Given the description of an element on the screen output the (x, y) to click on. 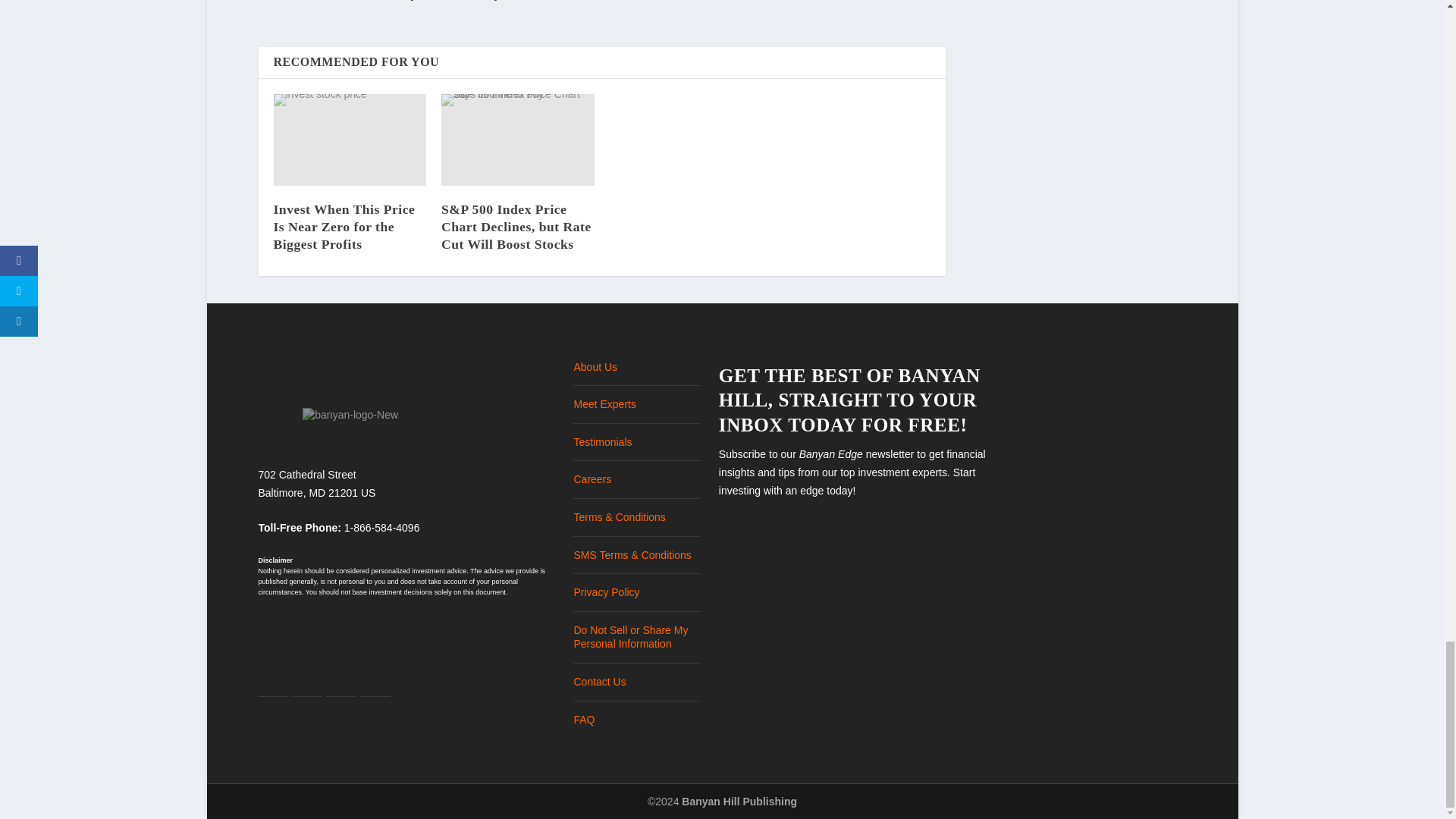
Invest When This Price Is Near Zero for the Biggest Profits (343, 226)
Invest When This Price Is Near Zero for the Biggest Profits (343, 226)
Invest When This Price Is Near Zero for the Biggest Profits (349, 139)
